Given the description of an element on the screen output the (x, y) to click on. 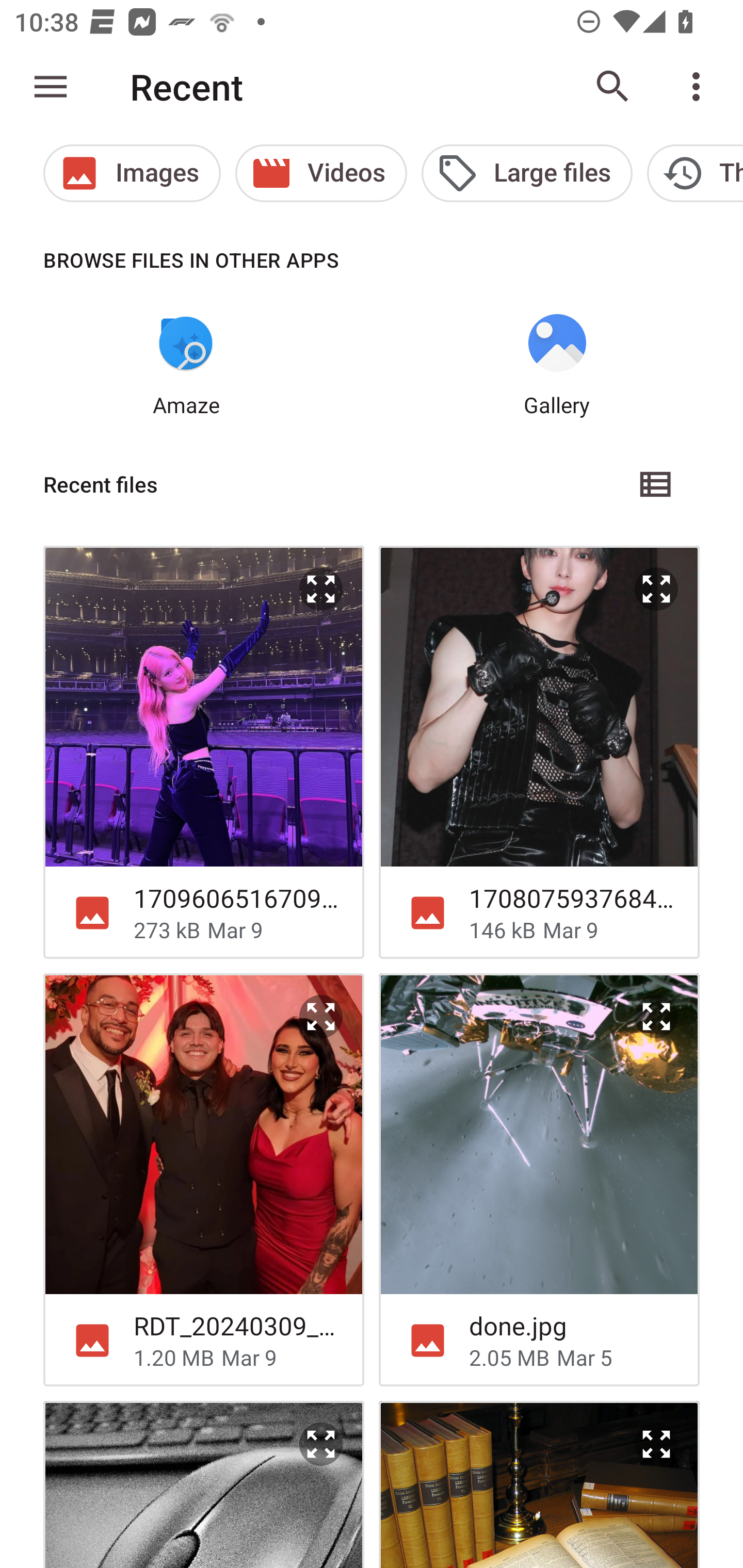
Show roots (50, 86)
Search (612, 86)
More options (699, 86)
Images (131, 173)
Videos (321, 173)
Large files (526, 173)
This week (695, 173)
Amaze (185, 365)
Gallery (557, 365)
List view (655, 484)
Preview the file done.jpg done.jpg 2.05 MB Mar 5 (538, 1179)
Preview the file done.jpg (655, 1016)
Preview the file Latin dictionary.jpg (538, 1484)
Preview the file Latin dictionary.jpg (655, 1444)
